Given the description of an element on the screen output the (x, y) to click on. 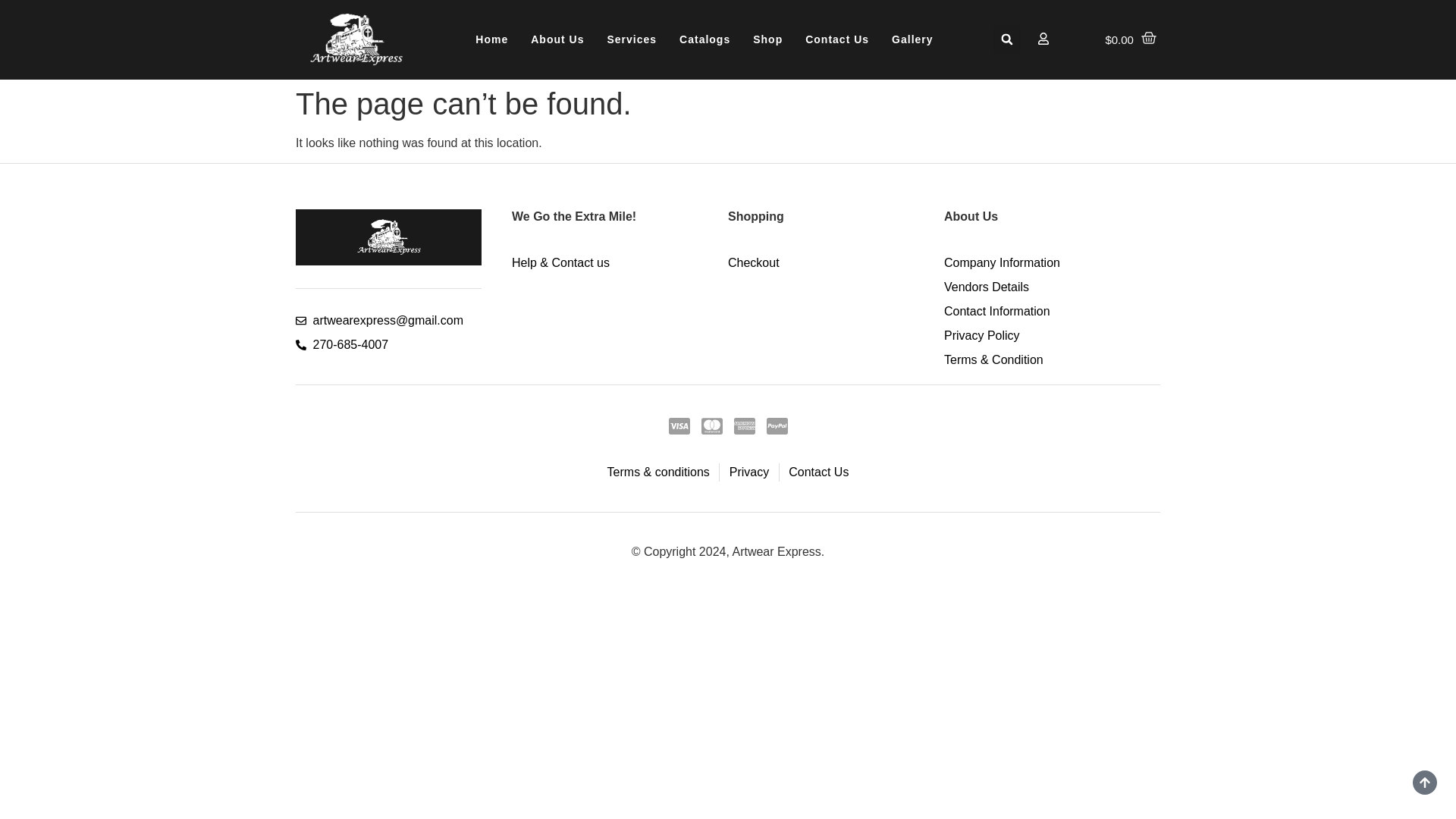
Shop (767, 39)
Catalogs (704, 39)
Services (631, 39)
Gallery (911, 39)
About Us (557, 39)
Contact Us (836, 39)
Home (491, 39)
